Given the description of an element on the screen output the (x, y) to click on. 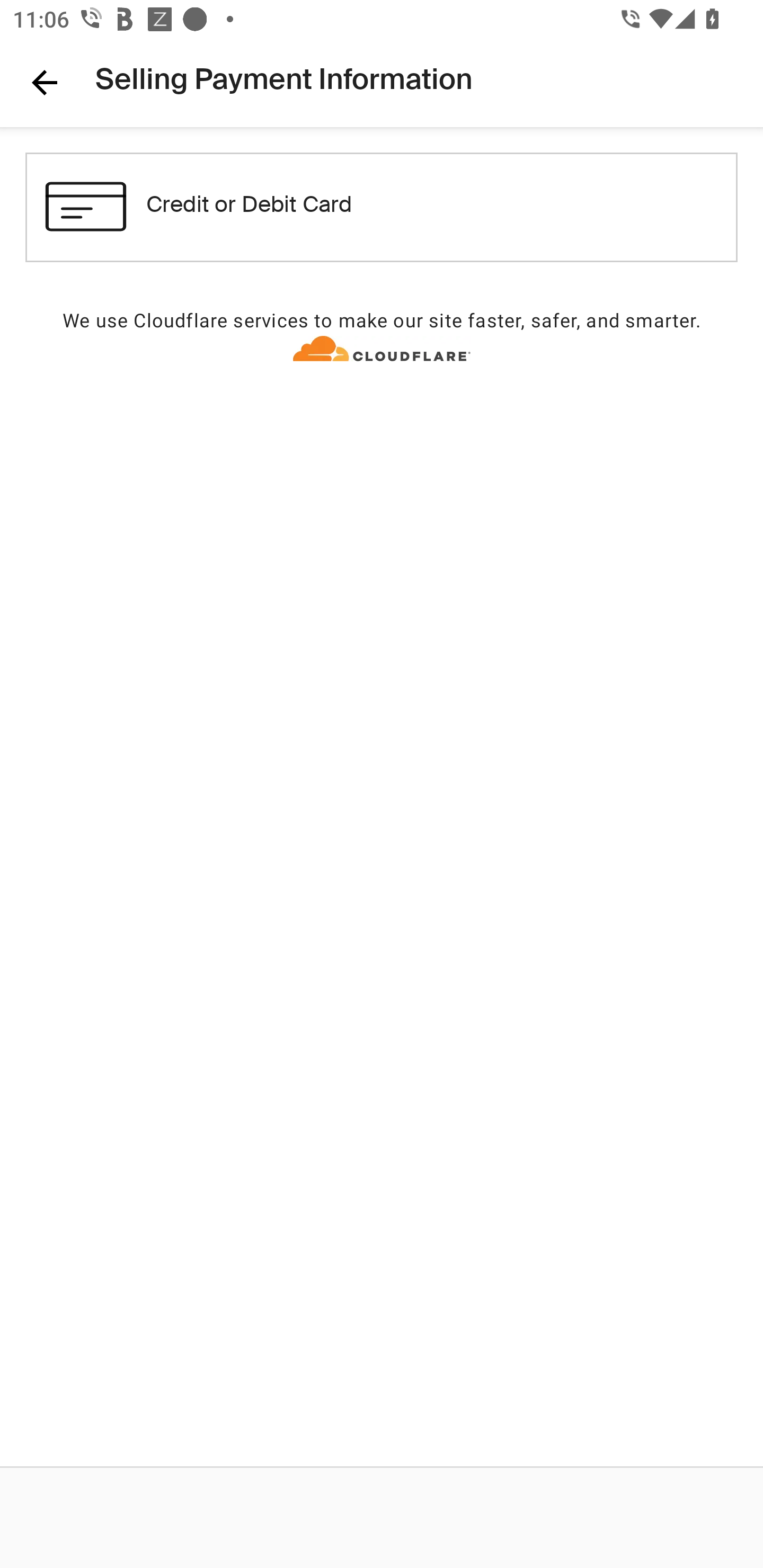
Credit or Debit Card (381, 206)
